Given the description of an element on the screen output the (x, y) to click on. 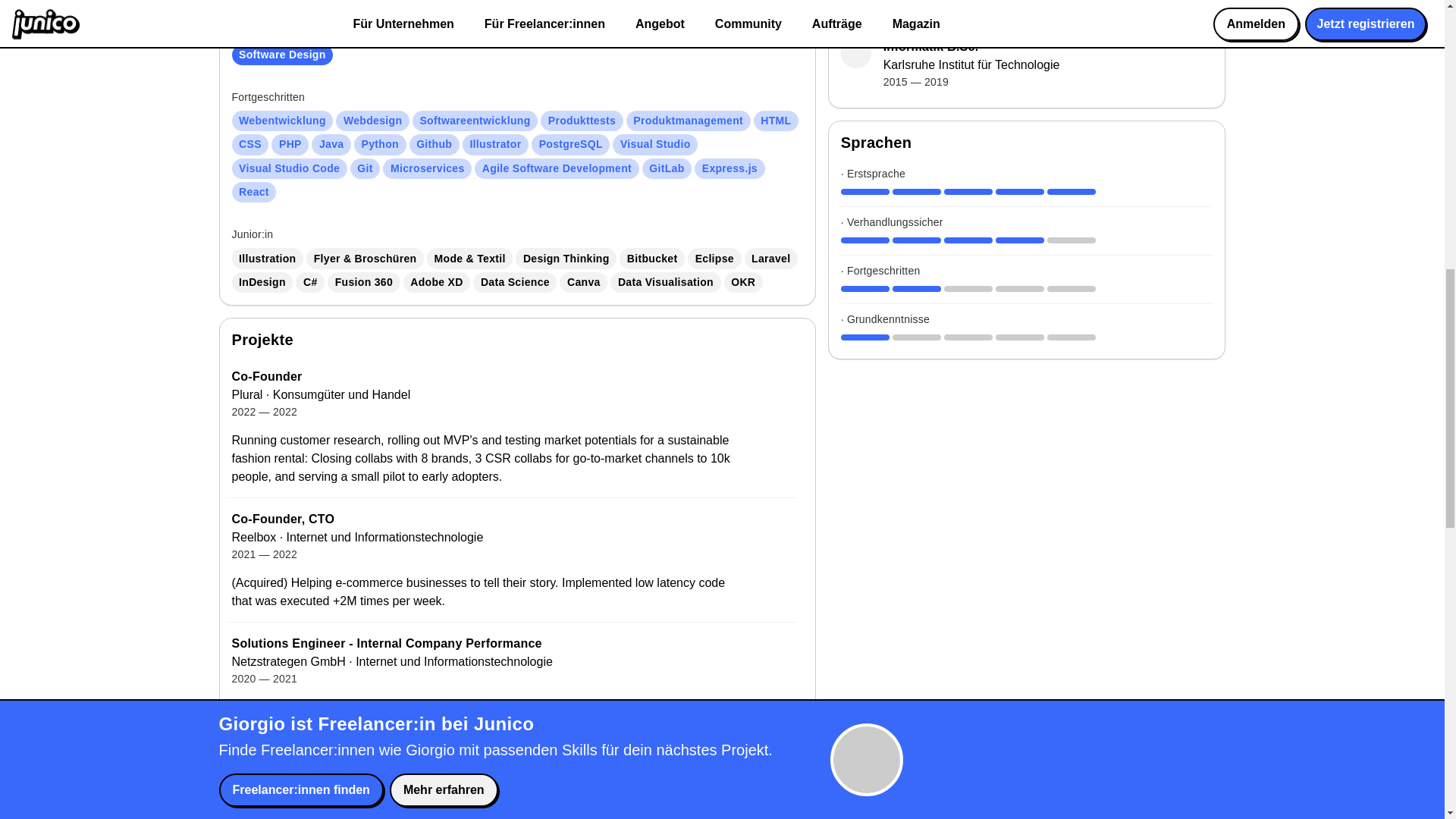
Alle Projekte von Giorgio ansehen (346, 788)
